Given the description of an element on the screen output the (x, y) to click on. 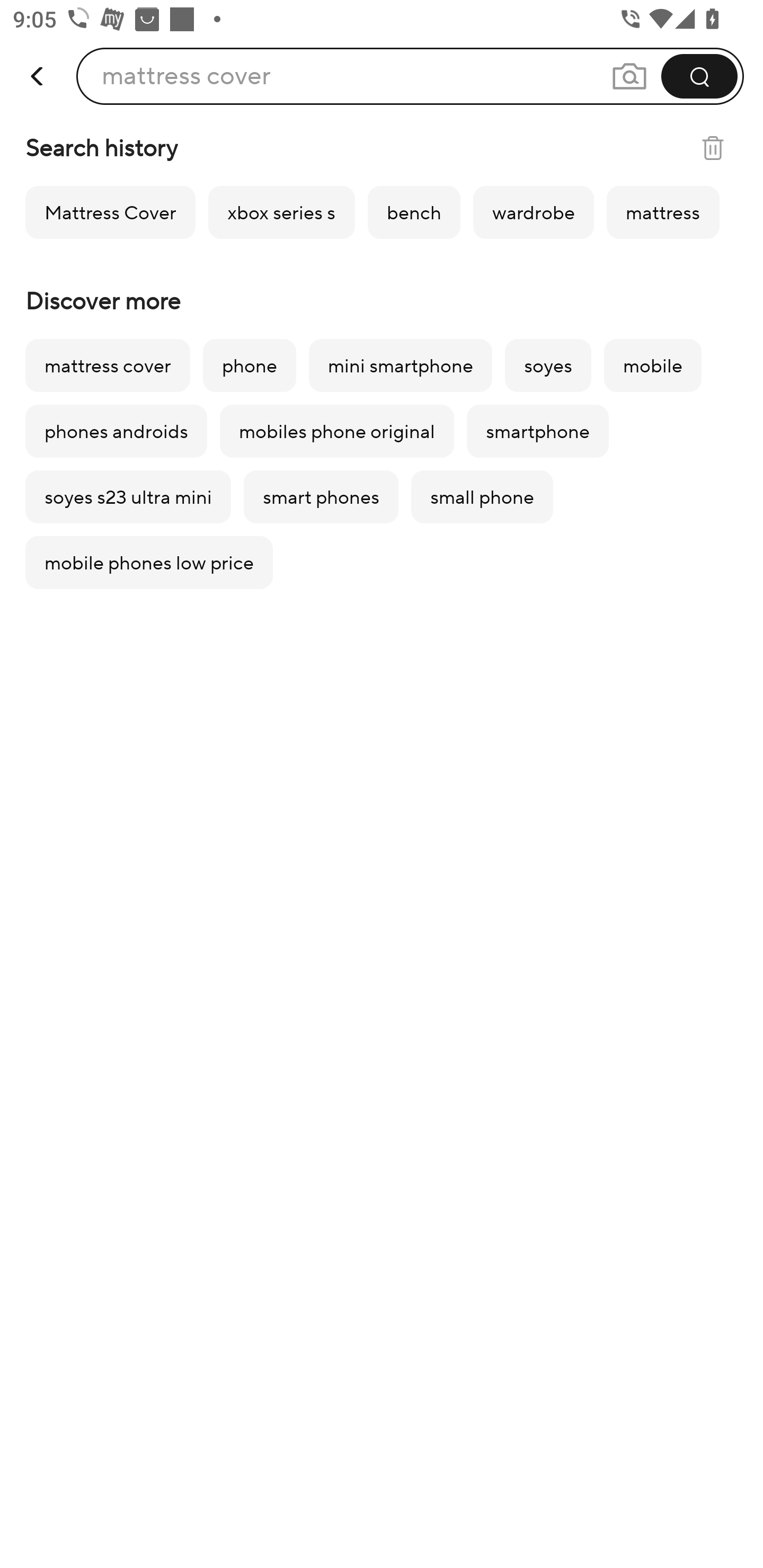
mattress cover (185, 76)
Mattress Cover (110, 212)
xbox series s (281, 212)
bench (413, 212)
wardrobe (533, 212)
mattress (662, 212)
mattress cover (107, 365)
phone (249, 365)
mini smartphone (400, 365)
soyes (548, 365)
mobile (652, 365)
phones androids (116, 430)
mobiles phone original (336, 430)
smartphone (537, 430)
soyes s23 ultra mini (128, 496)
smart phones (320, 496)
small phone (482, 496)
mobile phones low price (149, 562)
